Given the description of an element on the screen output the (x, y) to click on. 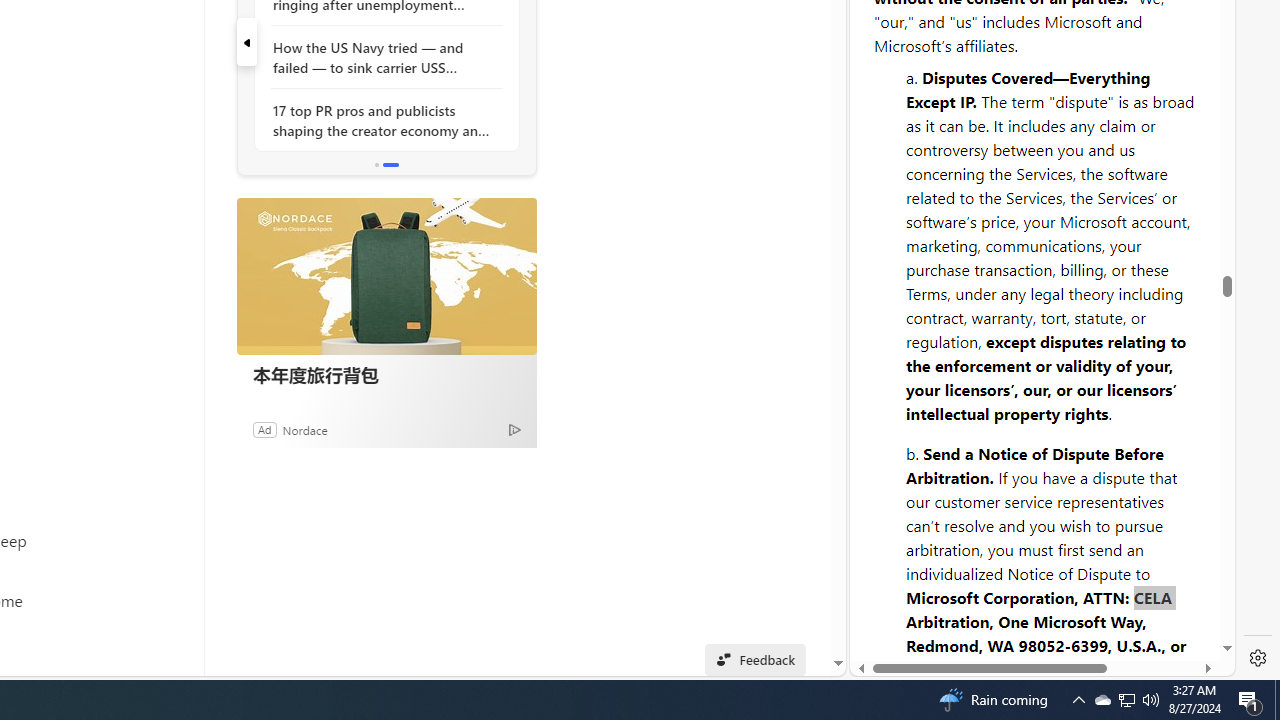
previous (246, 42)
Open in New Tab (1042, 631)
